Given the description of an element on the screen output the (x, y) to click on. 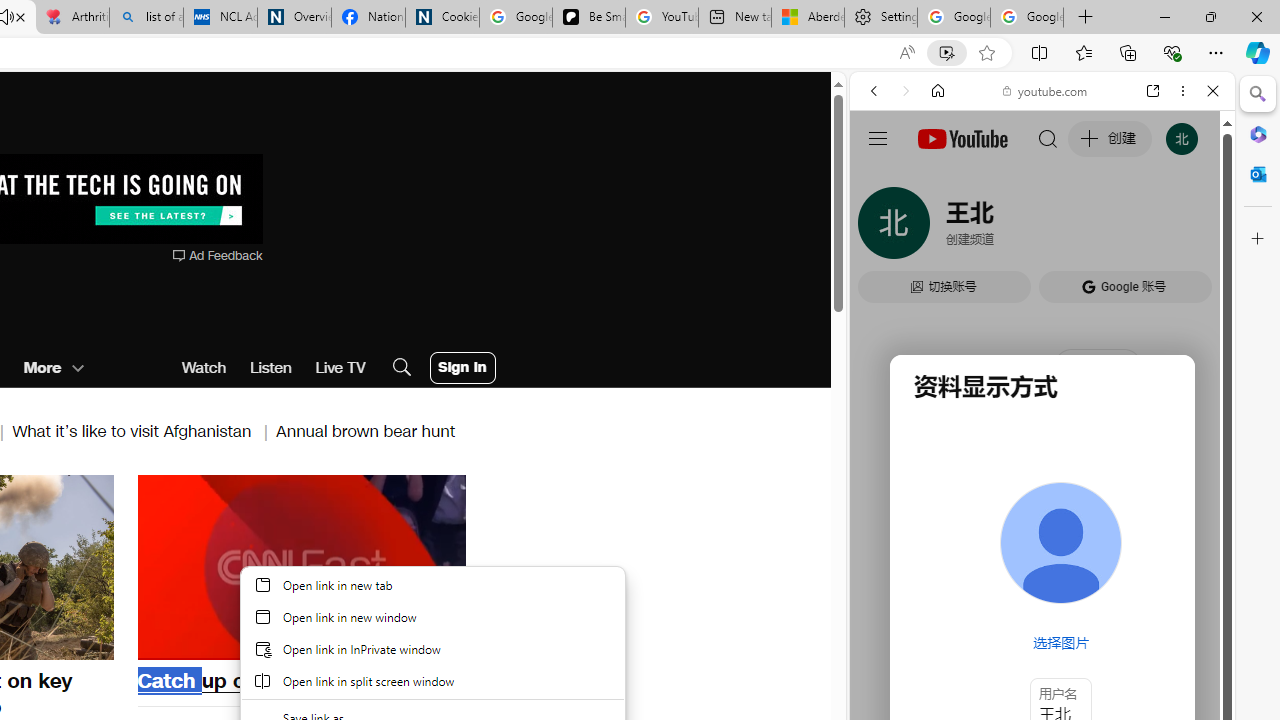
Backward 10 seconds (241, 565)
Pause (301, 567)
YouTube (1034, 296)
Class: b_serphb (1190, 229)
Google (1042, 494)
WEB   (882, 228)
Captions Unavailable (350, 642)
youtube.com (1046, 90)
